Given the description of an element on the screen output the (x, y) to click on. 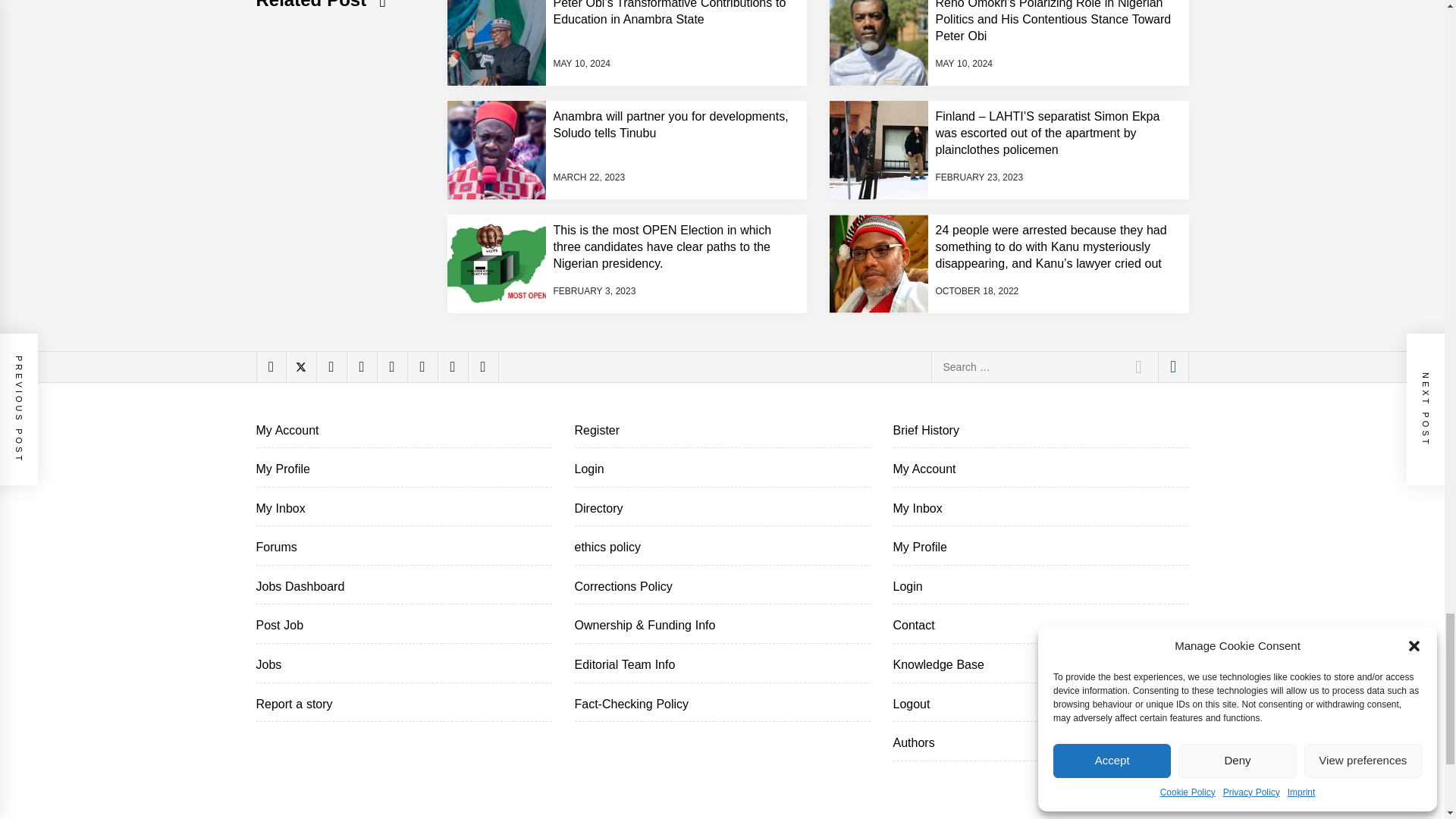
Search (1138, 367)
Search (1138, 367)
